Given the description of an element on the screen output the (x, y) to click on. 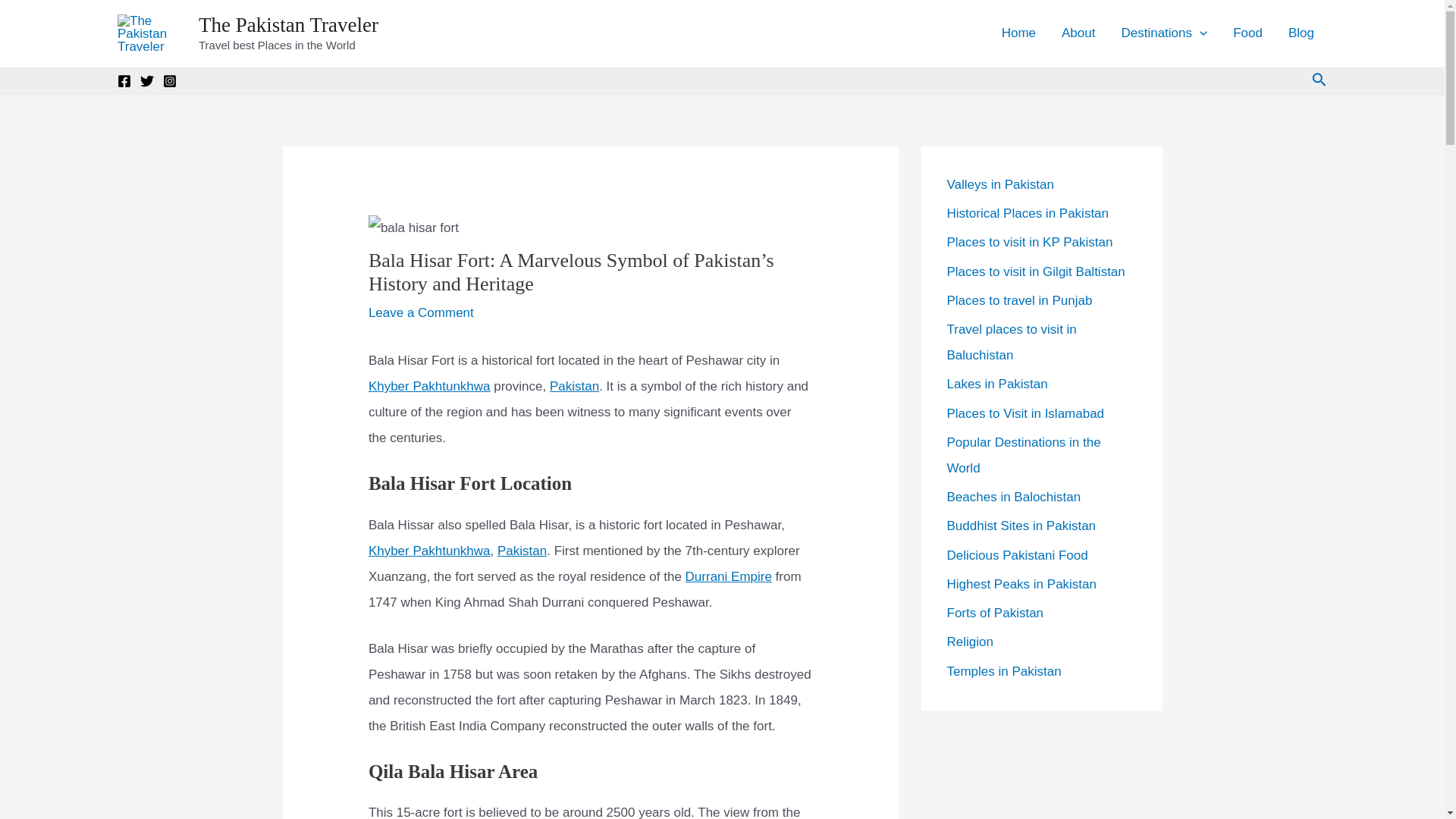
About (1078, 32)
Destinations (1164, 32)
Home (1018, 32)
The Pakistan Traveler (288, 24)
